Given the description of an element on the screen output the (x, y) to click on. 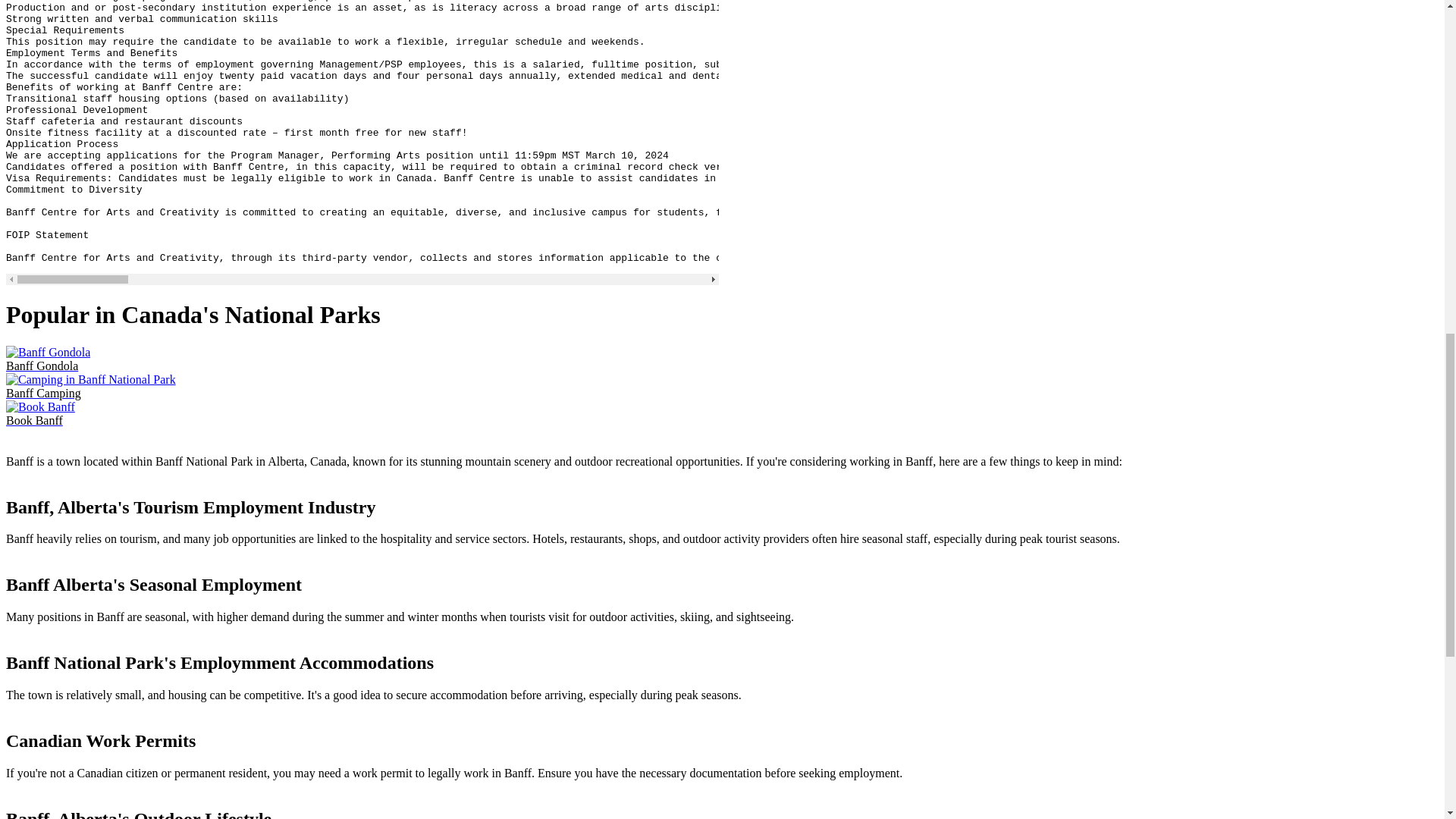
Banff Gondola (47, 358)
Banff Camping (90, 386)
Book Banff (40, 413)
